Given the description of an element on the screen output the (x, y) to click on. 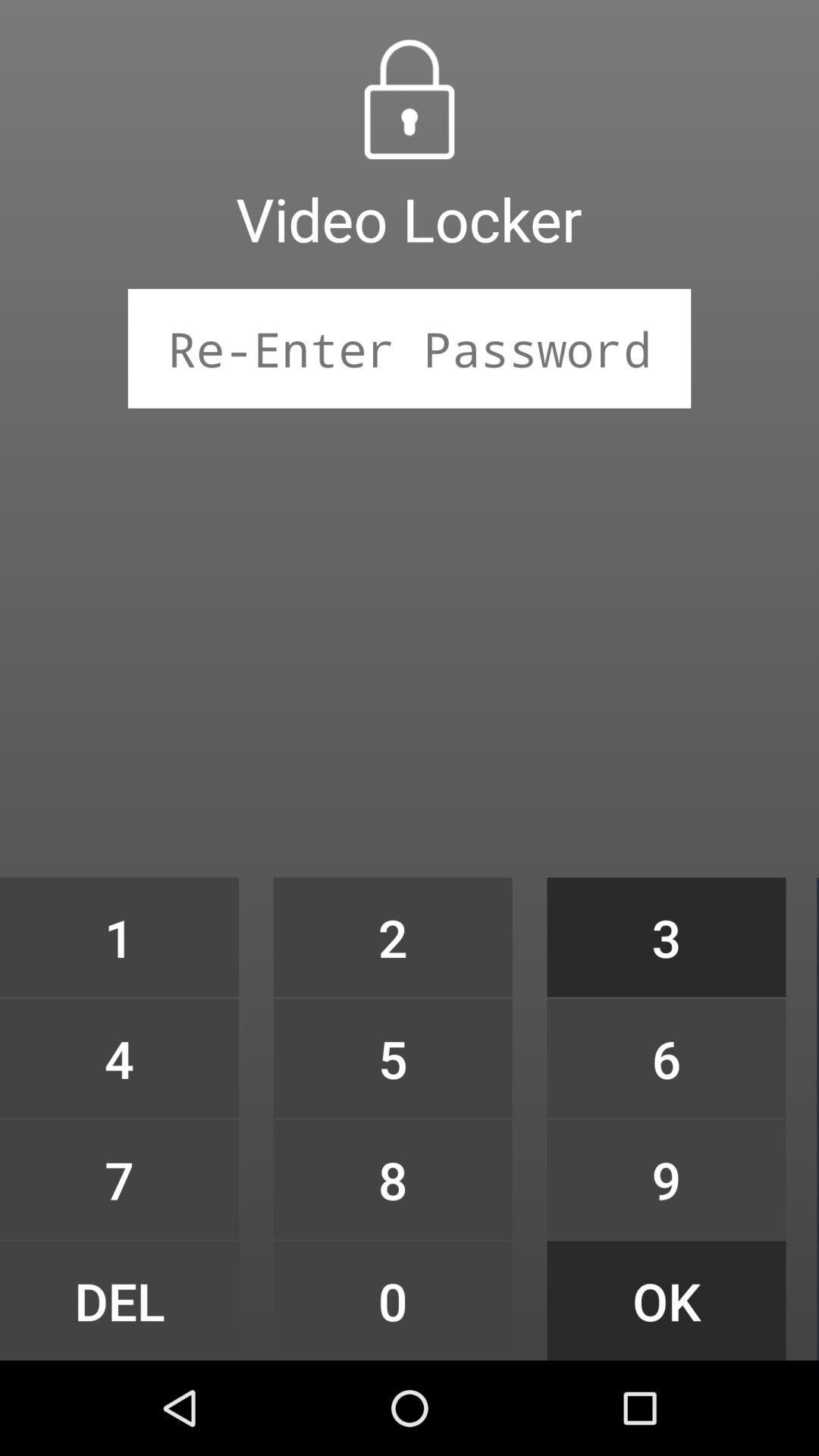
click the icon below the 8 (392, 1300)
